Given the description of an element on the screen output the (x, y) to click on. 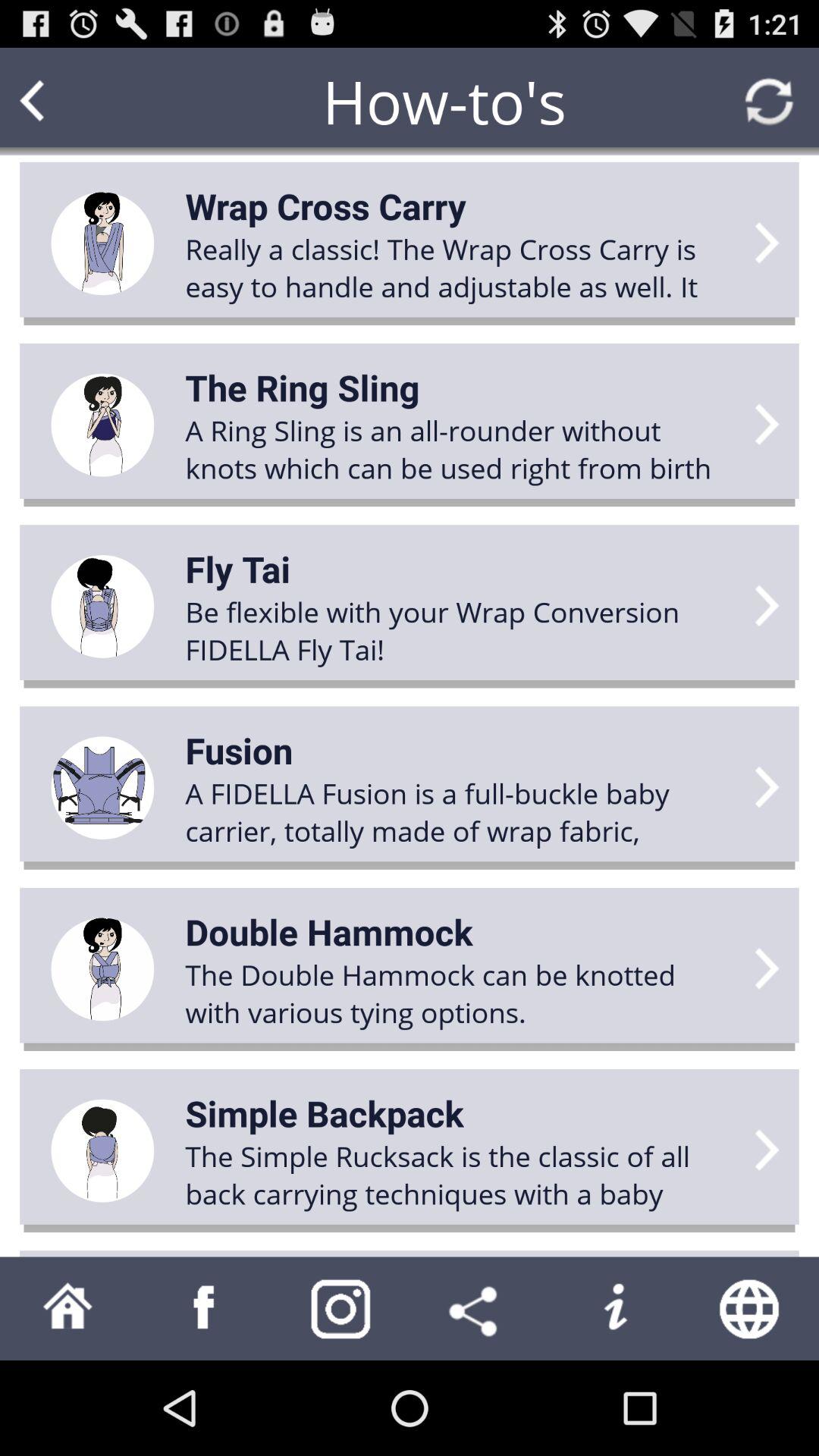
open internet browser (750, 1308)
